Given the description of an element on the screen output the (x, y) to click on. 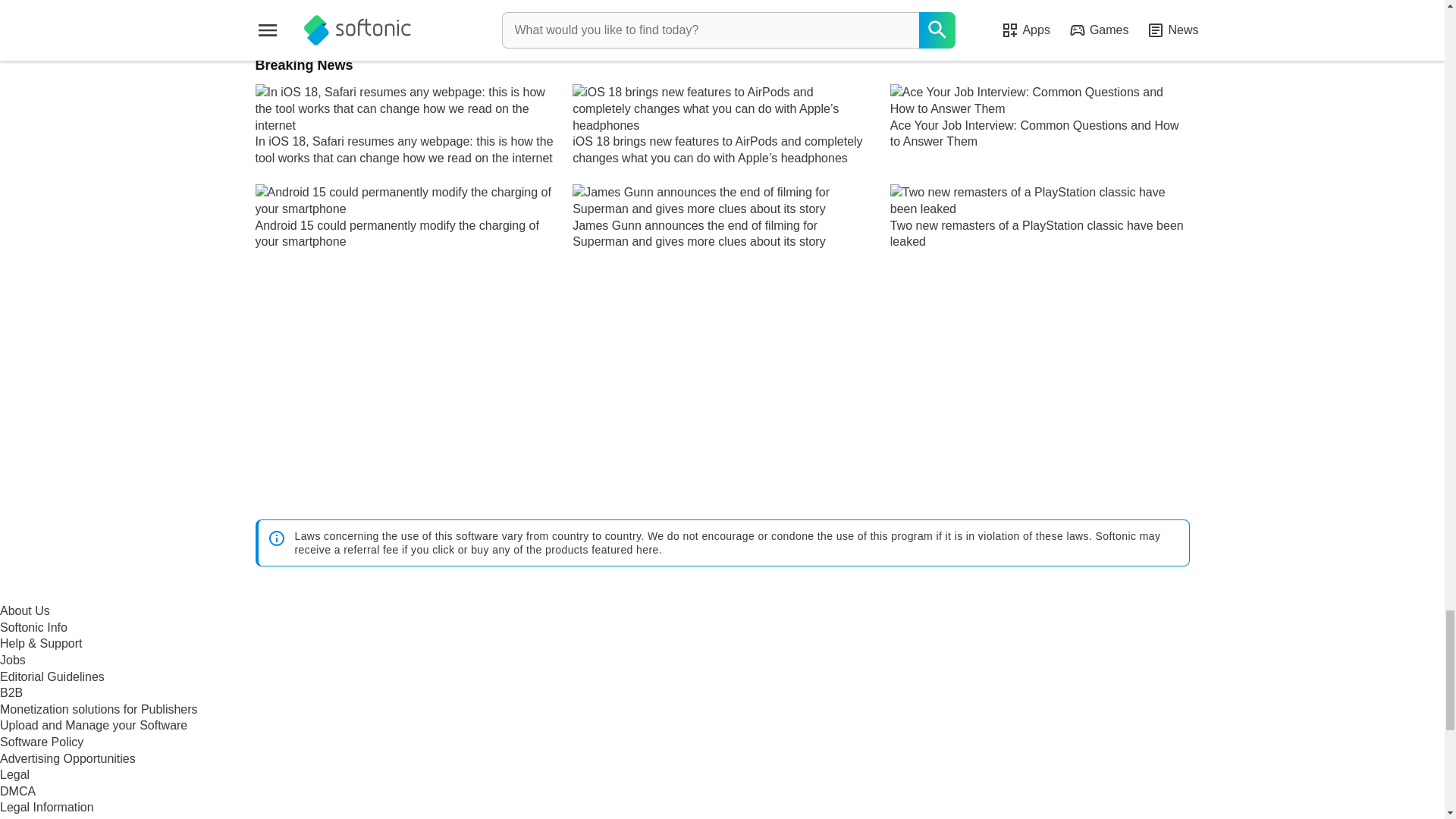
Two new remasters of a PlayStation classic have been leaked (1039, 216)
The remake of the best Mafia game arrives on Xbox Game Pass (1078, 10)
